Given the description of an element on the screen output the (x, y) to click on. 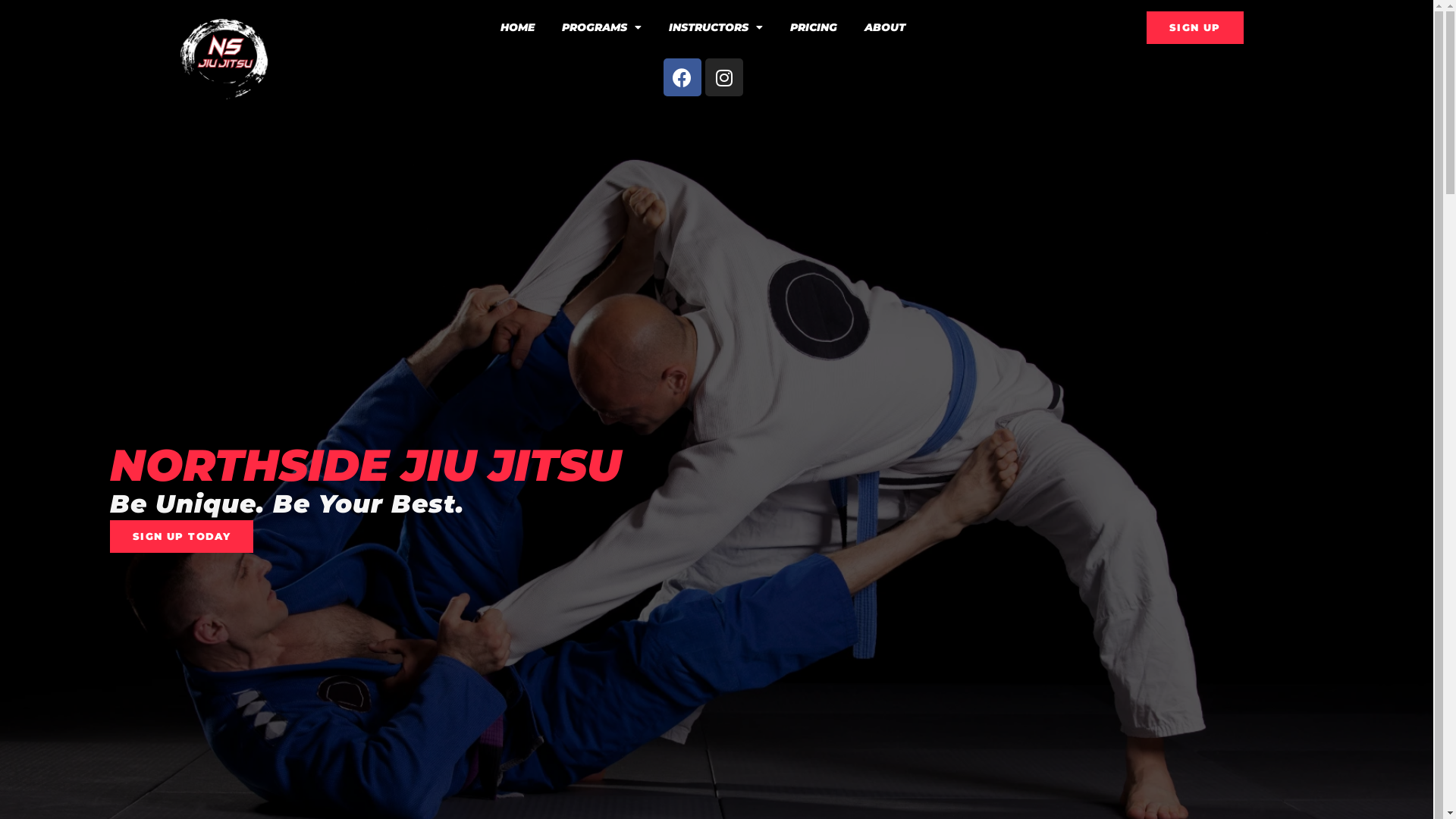
PRICING Element type: text (813, 27)
ABOUT Element type: text (884, 27)
INSTRUCTORS Element type: text (715, 27)
SIGN UP Element type: text (1194, 27)
SIGN UP TODAY Element type: text (181, 536)
PROGRAMS Element type: text (601, 27)
HOME Element type: text (517, 27)
